Given the description of an element on the screen output the (x, y) to click on. 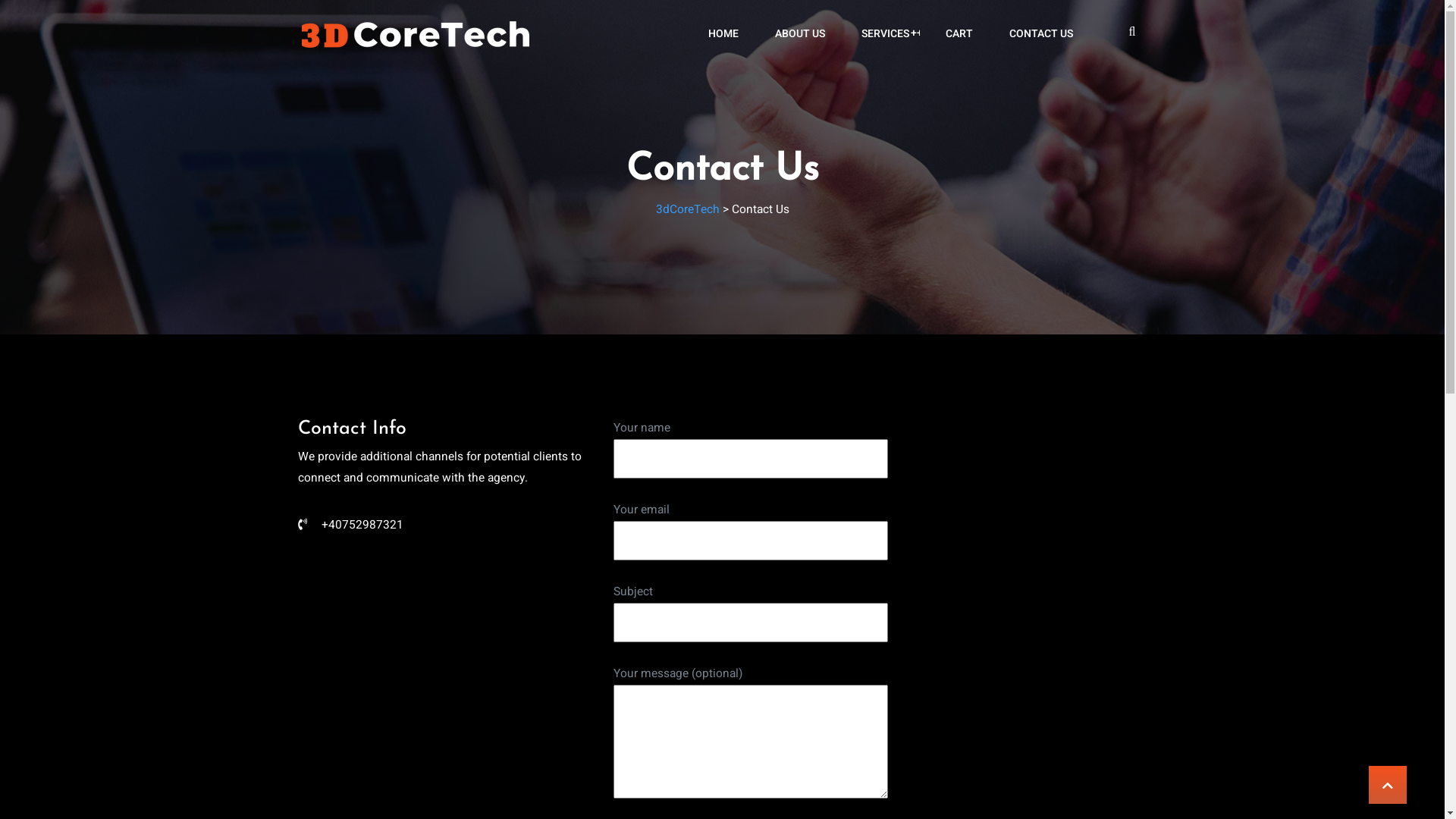
ABOUT US Element type: text (799, 34)
+
SERVICES Element type: text (884, 34)
3dCoreTech Element type: text (686, 209)
HOME Element type: text (723, 34)
CART Element type: text (959, 34)
CONTACT US Element type: text (1040, 34)
